Given the description of an element on the screen output the (x, y) to click on. 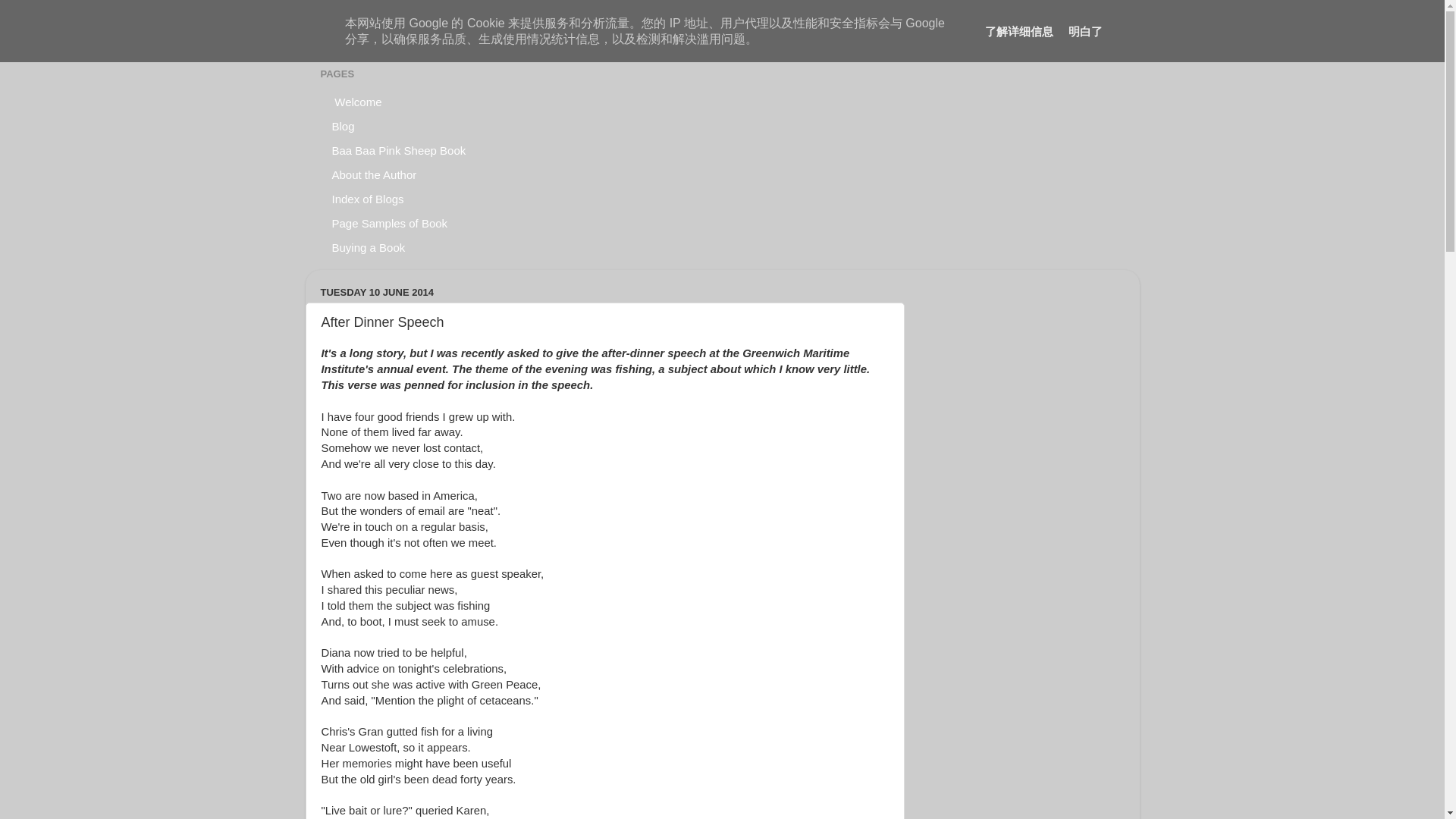
About the Author (374, 174)
Baa Baa Pink Sheep (444, 33)
Blog (343, 126)
Welcome (356, 102)
Index of Blogs (367, 199)
Baa Baa Pink Sheep Book (398, 150)
Buying a Book (368, 247)
Page Samples of Book (390, 223)
